Given the description of an element on the screen output the (x, y) to click on. 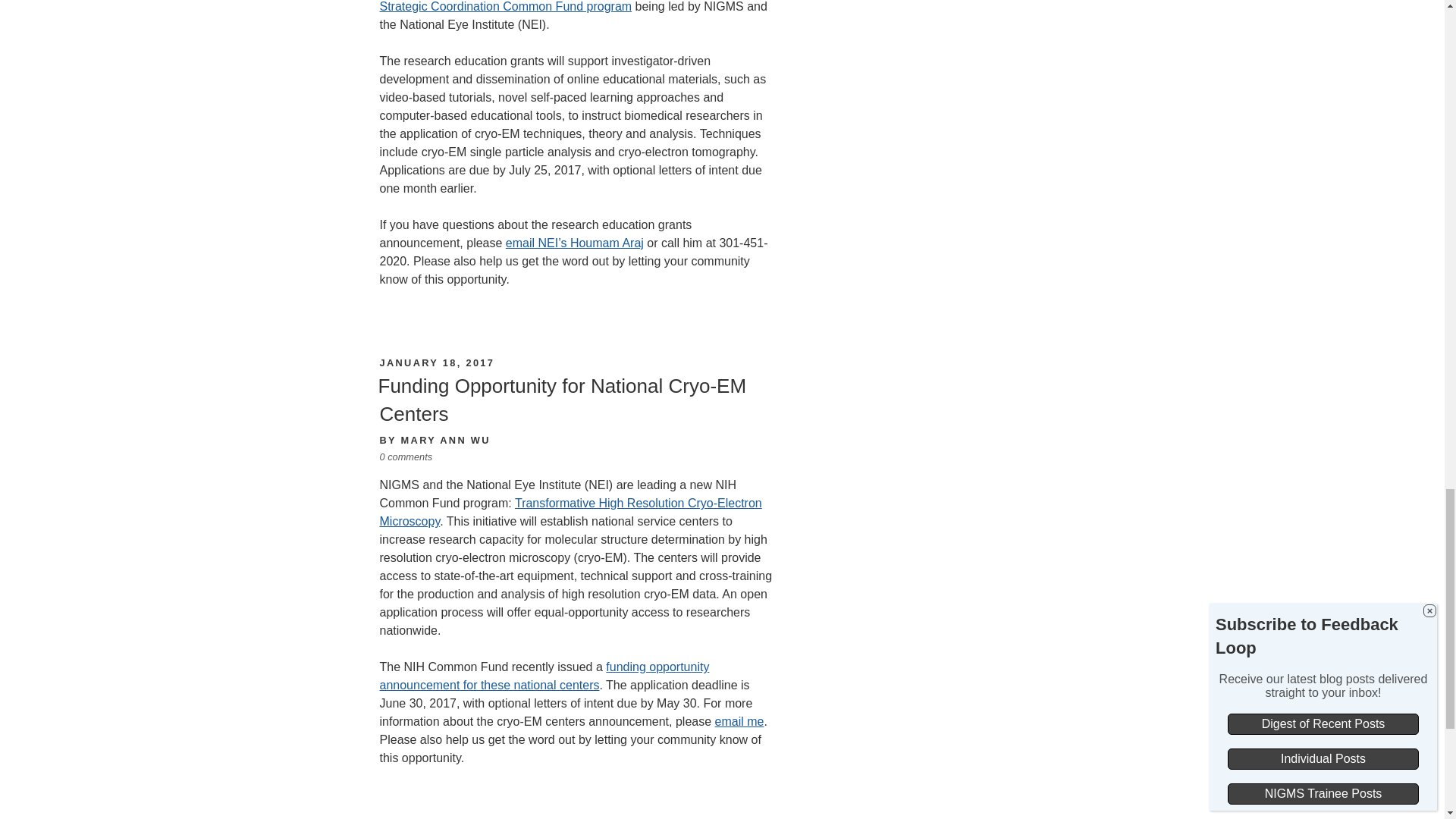
MARY ANN WU (445, 439)
JANUARY 18, 2017 (436, 362)
Transformative High Resolution Cryo-Electron Microscopy (569, 511)
Funding Opportunity for National Cryo-EM Centers (561, 399)
email me (739, 721)
funding opportunity announcement for these national centers (543, 675)
Posts by Mary Ann Wu (445, 439)
